Given the description of an element on the screen output the (x, y) to click on. 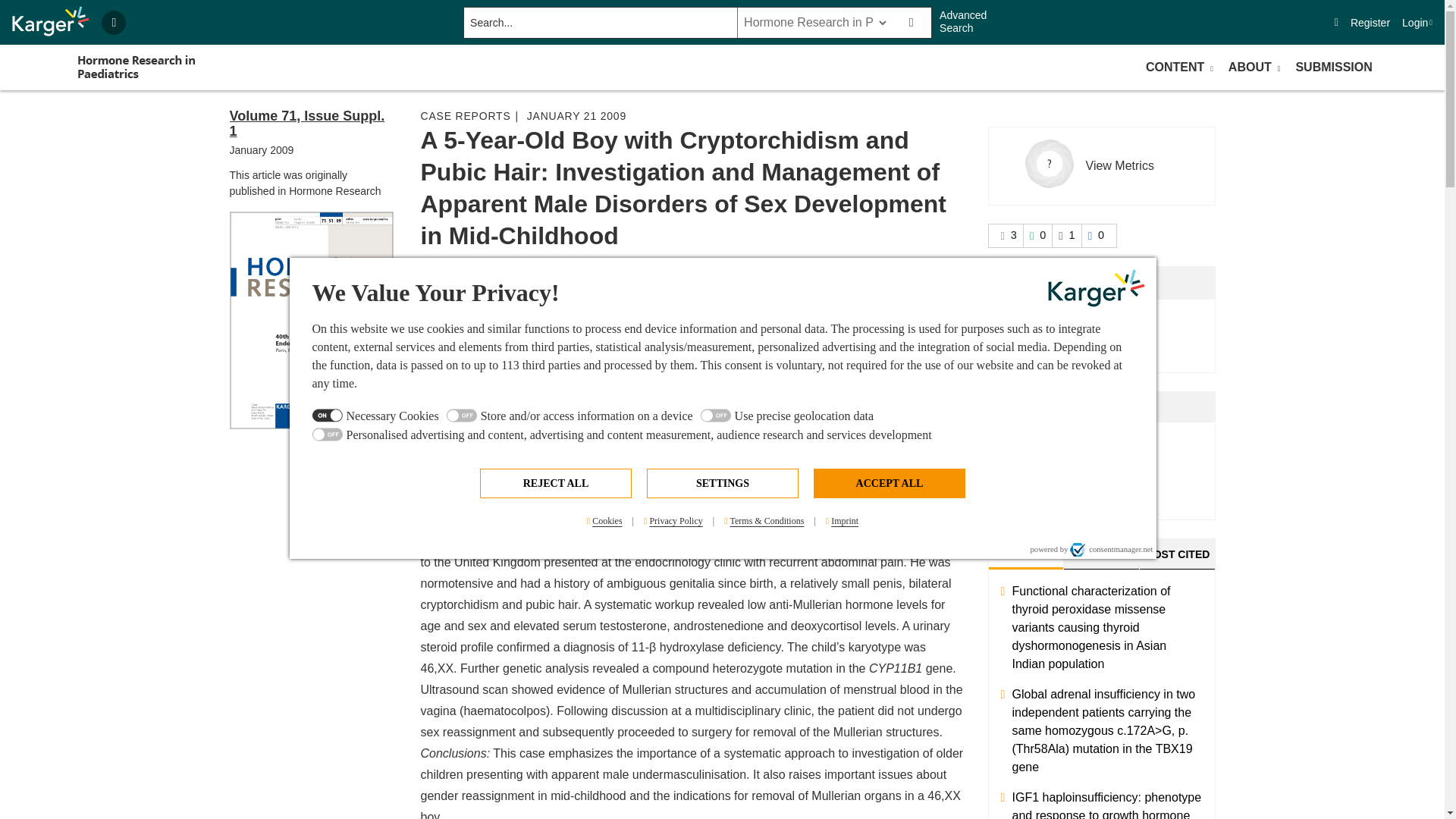
Purpose (723, 426)
Cookies (604, 521)
consentmanager.net (1111, 549)
ACCEPT ALL (889, 482)
SETTINGS (721, 482)
Imprint (842, 521)
REJECT ALL (555, 482)
Privacy Policy (673, 521)
search input (598, 22)
